Given the description of an element on the screen output the (x, y) to click on. 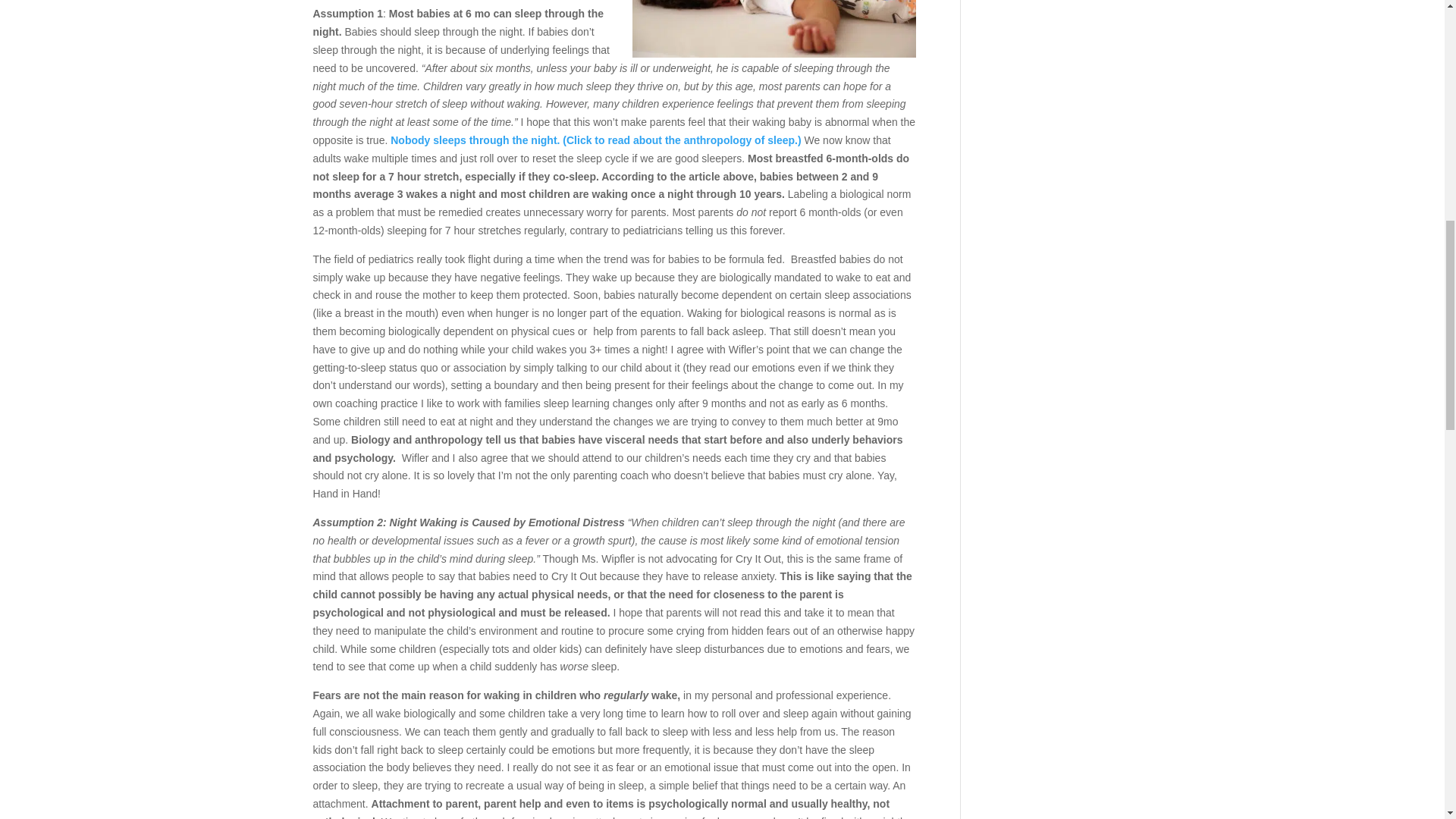
parenting science sleep (595, 140)
